Given the description of an element on the screen output the (x, y) to click on. 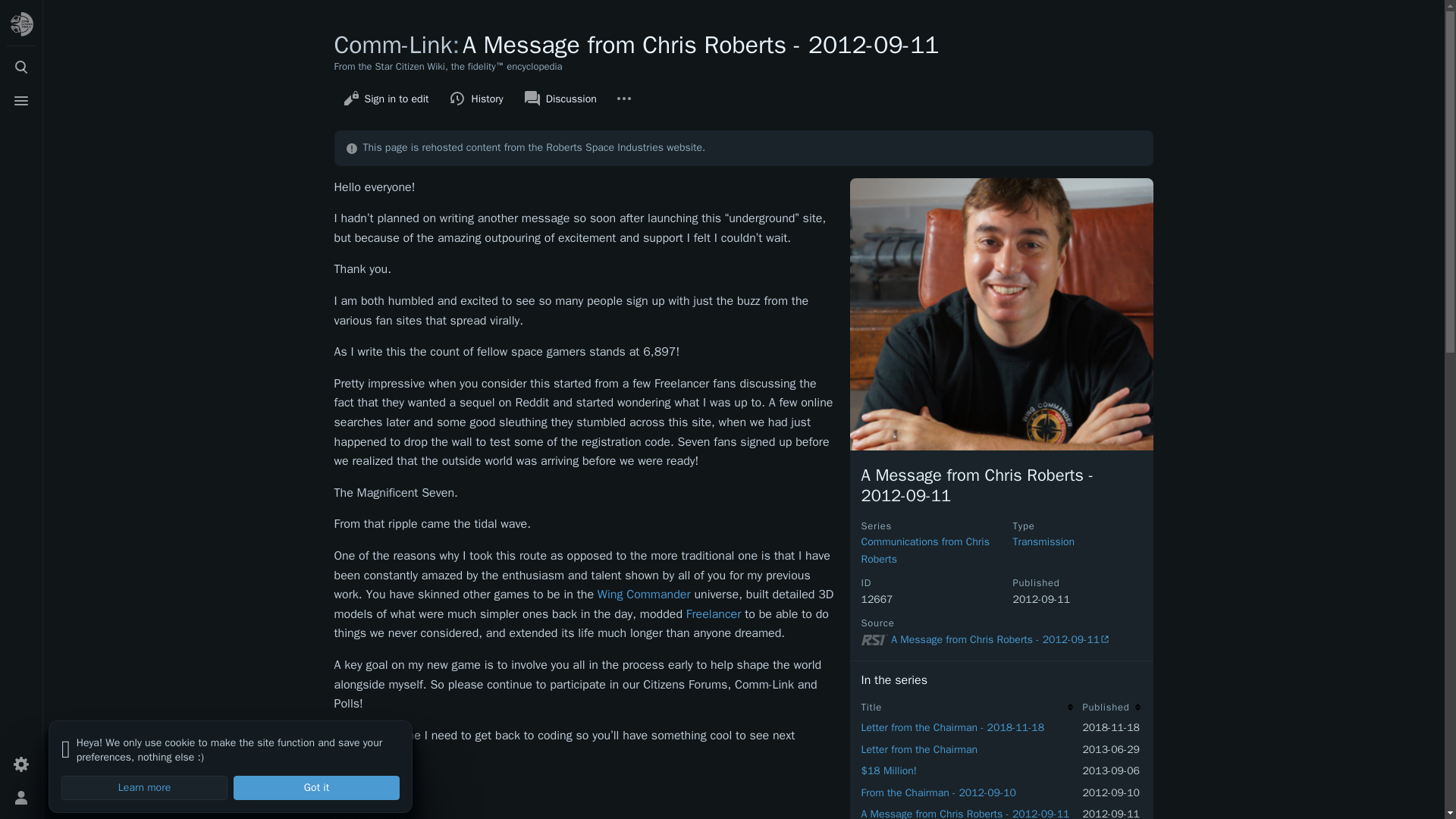
Visit the main page (20, 24)
Toggle personal menu (20, 797)
Toggle menu (20, 100)
Preferences (20, 764)
